Given the description of an element on the screen output the (x, y) to click on. 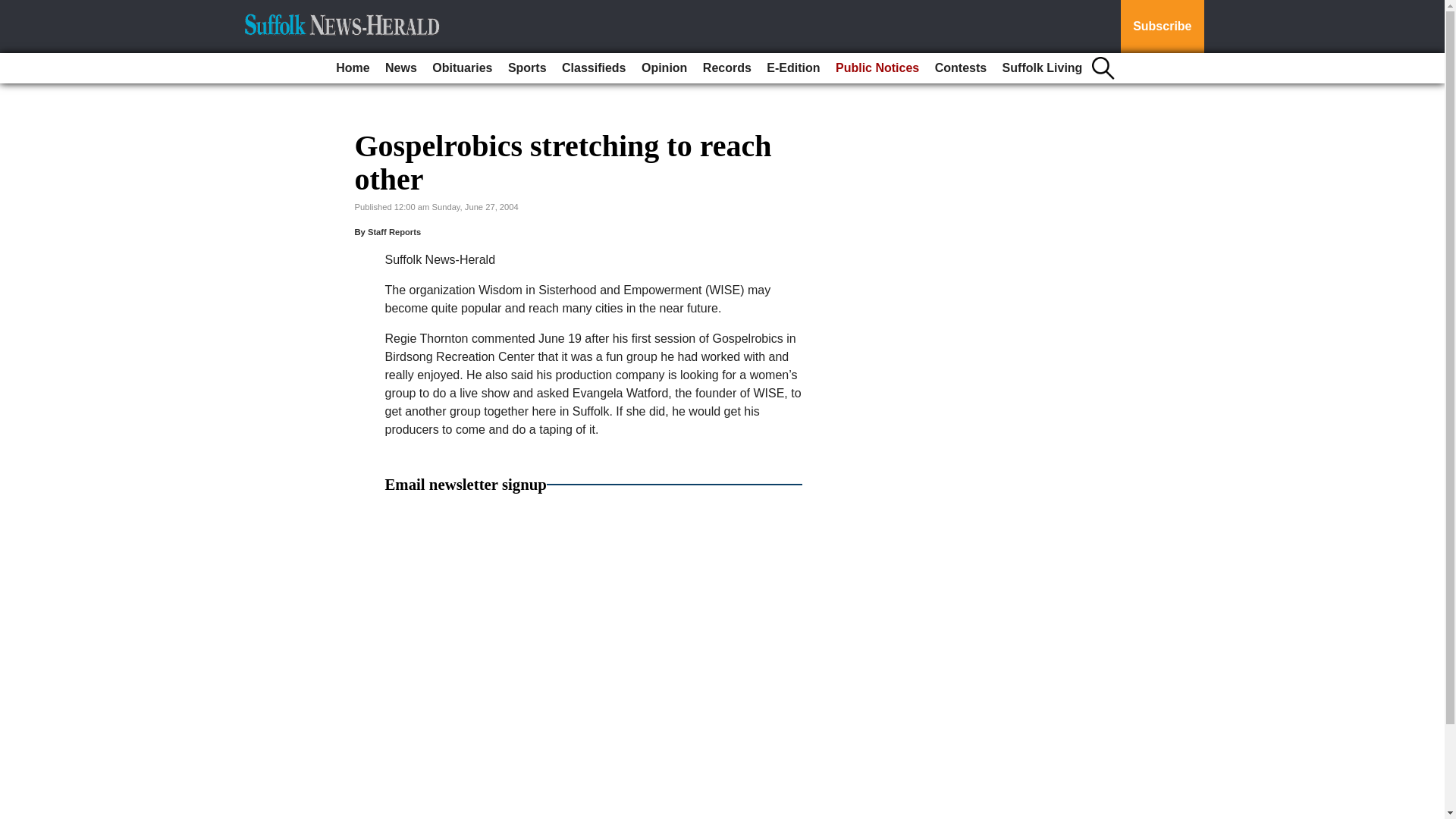
Contests (960, 68)
Obituaries (461, 68)
Records (727, 68)
Classifieds (593, 68)
E-Edition (792, 68)
Public Notices (876, 68)
Go (13, 9)
Subscribe (1162, 26)
Suffolk Living (1042, 68)
Home (352, 68)
